Given the description of an element on the screen output the (x, y) to click on. 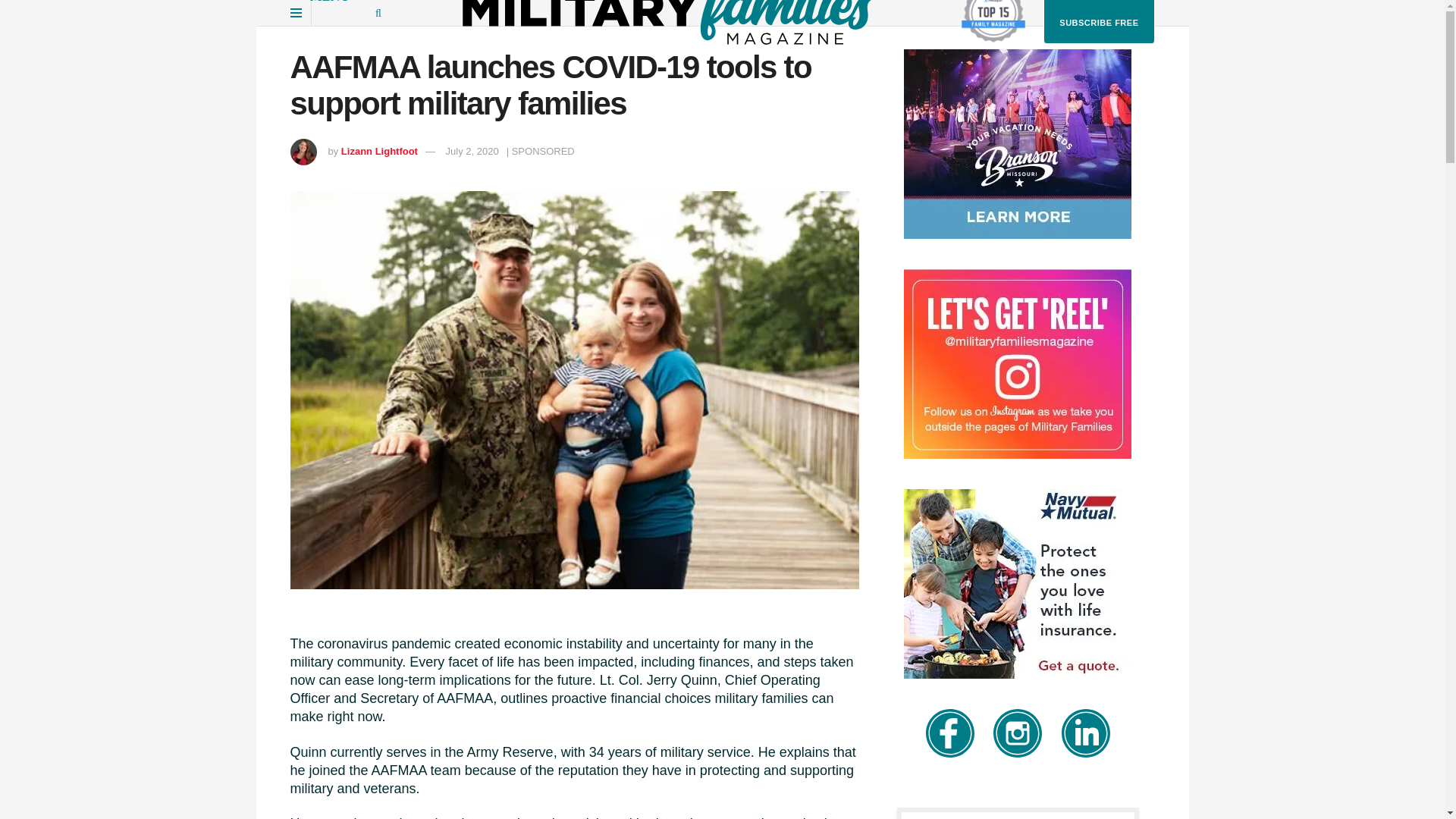
Lizann Lightfoot (378, 151)
SUBSCRIBE FREE (1098, 22)
July 2, 2020 (472, 151)
